Given the description of an element on the screen output the (x, y) to click on. 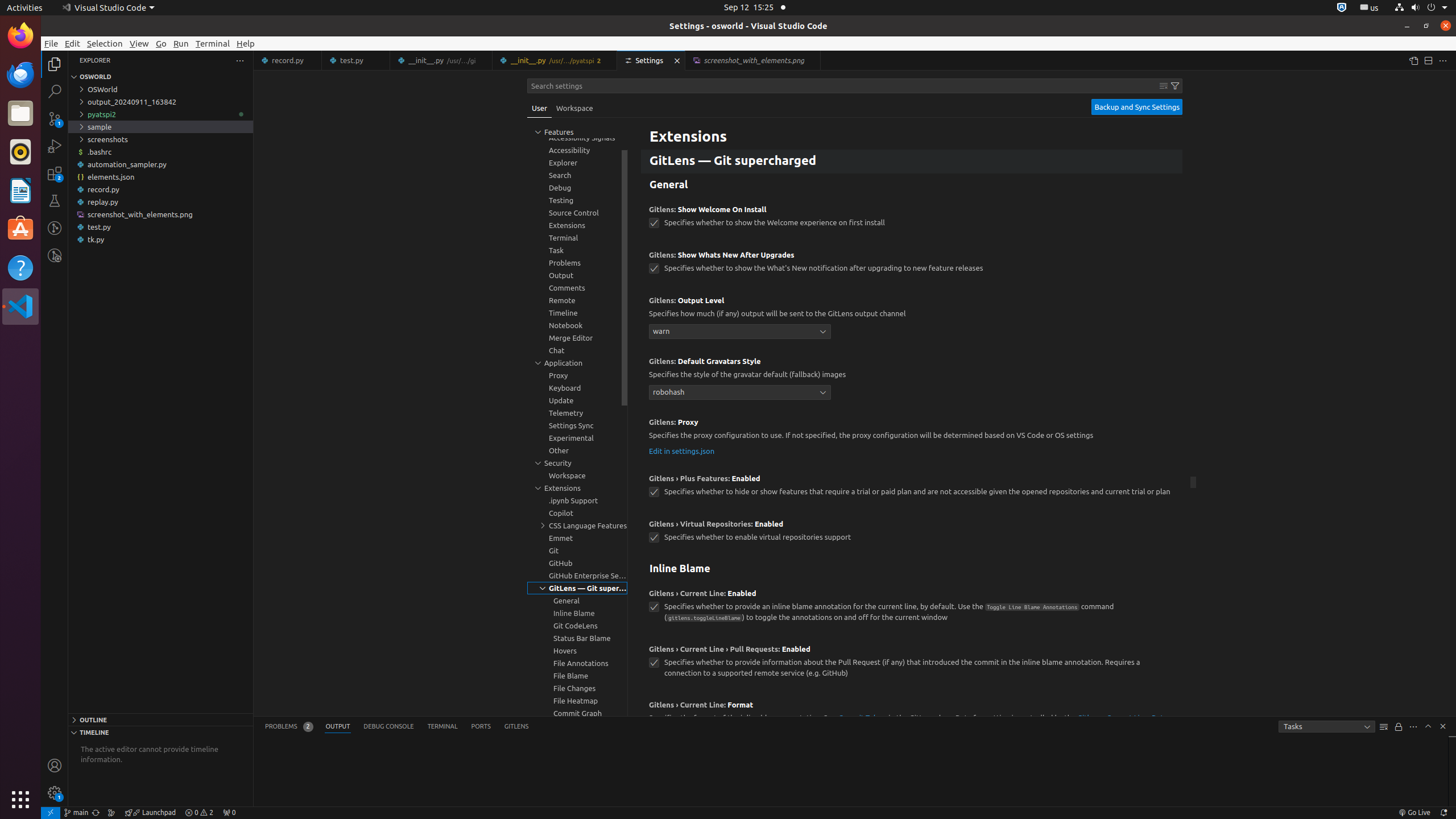
Go Element type: push-button (161, 43)
gitlens.virtualRepositories.enabled Element type: check-box (653, 537)
Extensions, group Element type: tree-item (577, 487)
Problems (Ctrl+Shift+M) - Total 2 Problems Element type: page-tab (288, 726)
gitlens.plusFeatures.enabled Element type: check-box (653, 491)
